Given the description of an element on the screen output the (x, y) to click on. 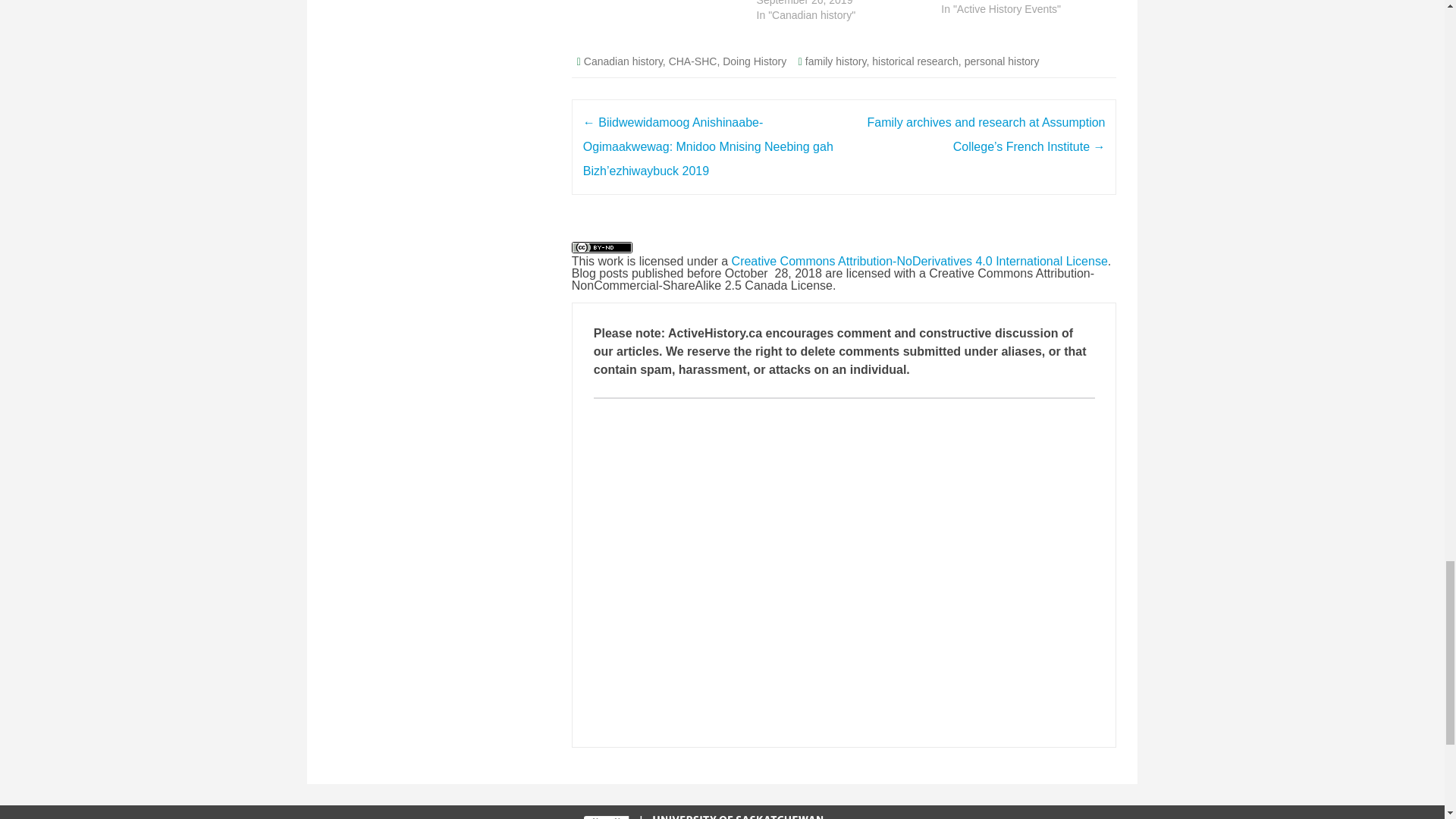
historical research (915, 61)
personal history (1001, 61)
CHA-SHC (692, 61)
Canadian history (622, 61)
Doing History (754, 61)
family history (835, 61)
